Given the description of an element on the screen output the (x, y) to click on. 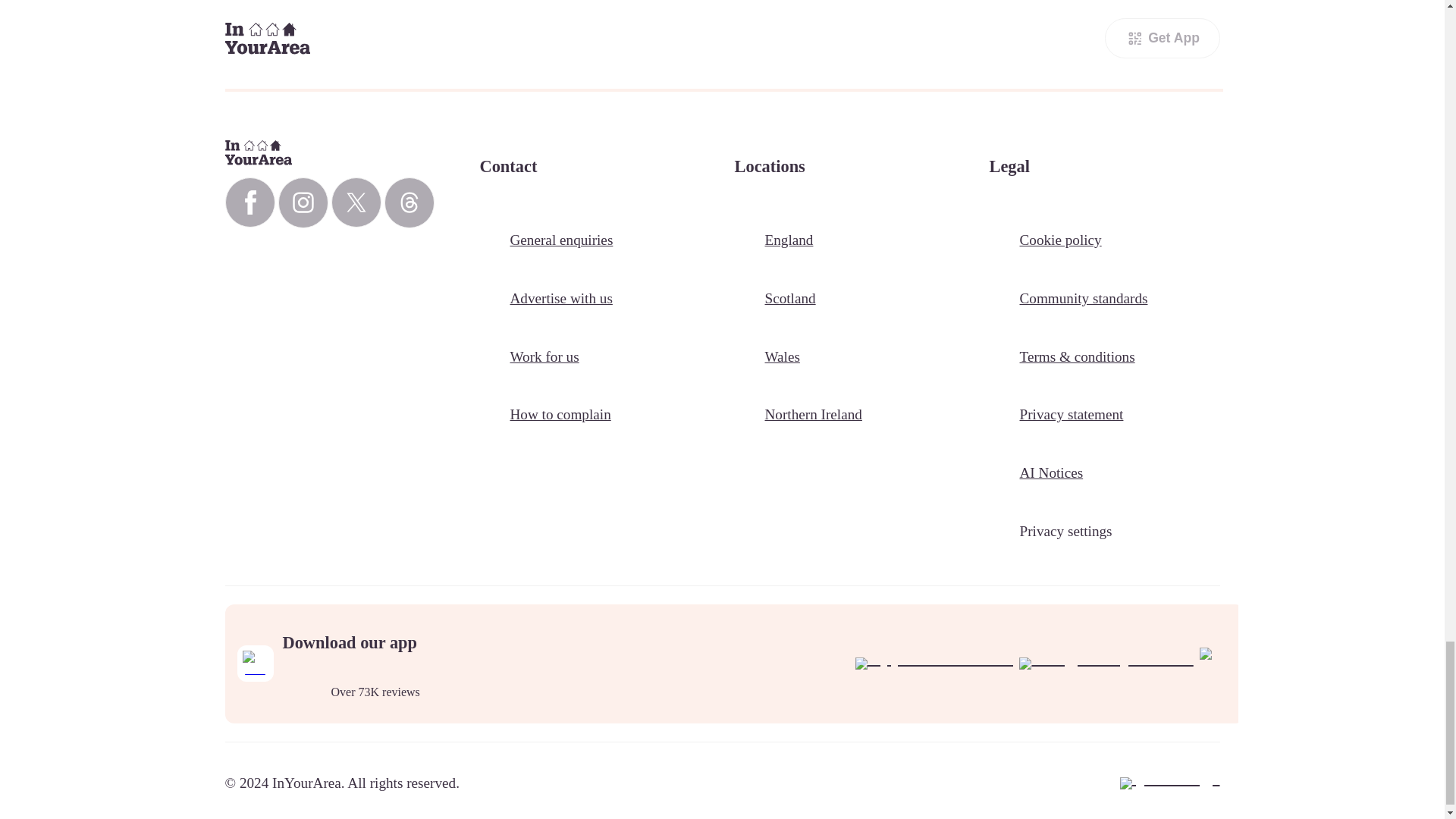
InYourArea X (355, 202)
InYourArea Facebook (249, 202)
InYourArea Instagram (302, 203)
InYourArea Threads (408, 203)
